Given the description of an element on the screen output the (x, y) to click on. 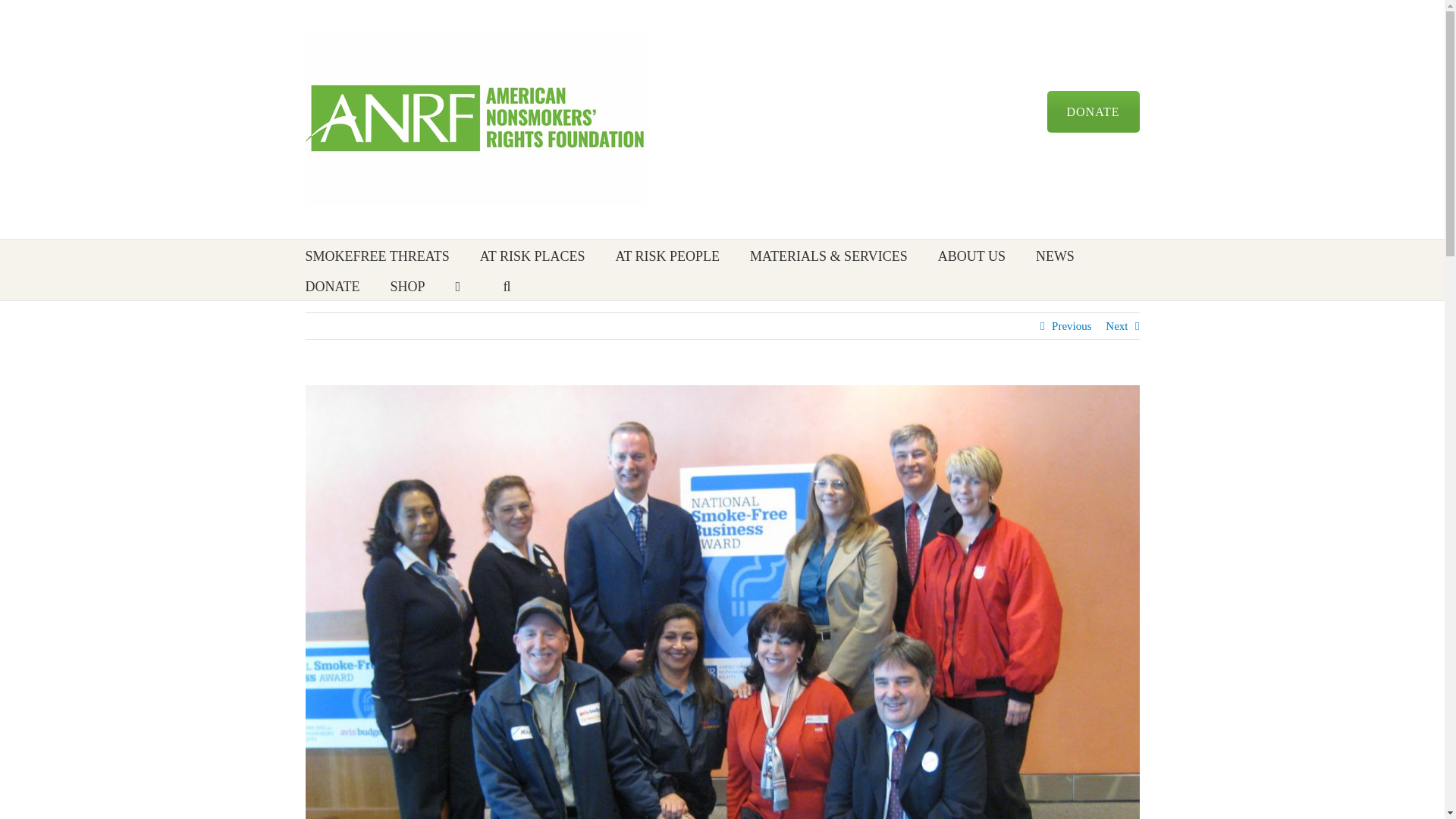
AT RISK PEOPLE (666, 254)
AT RISK PLACES (532, 254)
SMOKEFREE THREATS (376, 254)
DONATE (1092, 111)
